Given the description of an element on the screen output the (x, y) to click on. 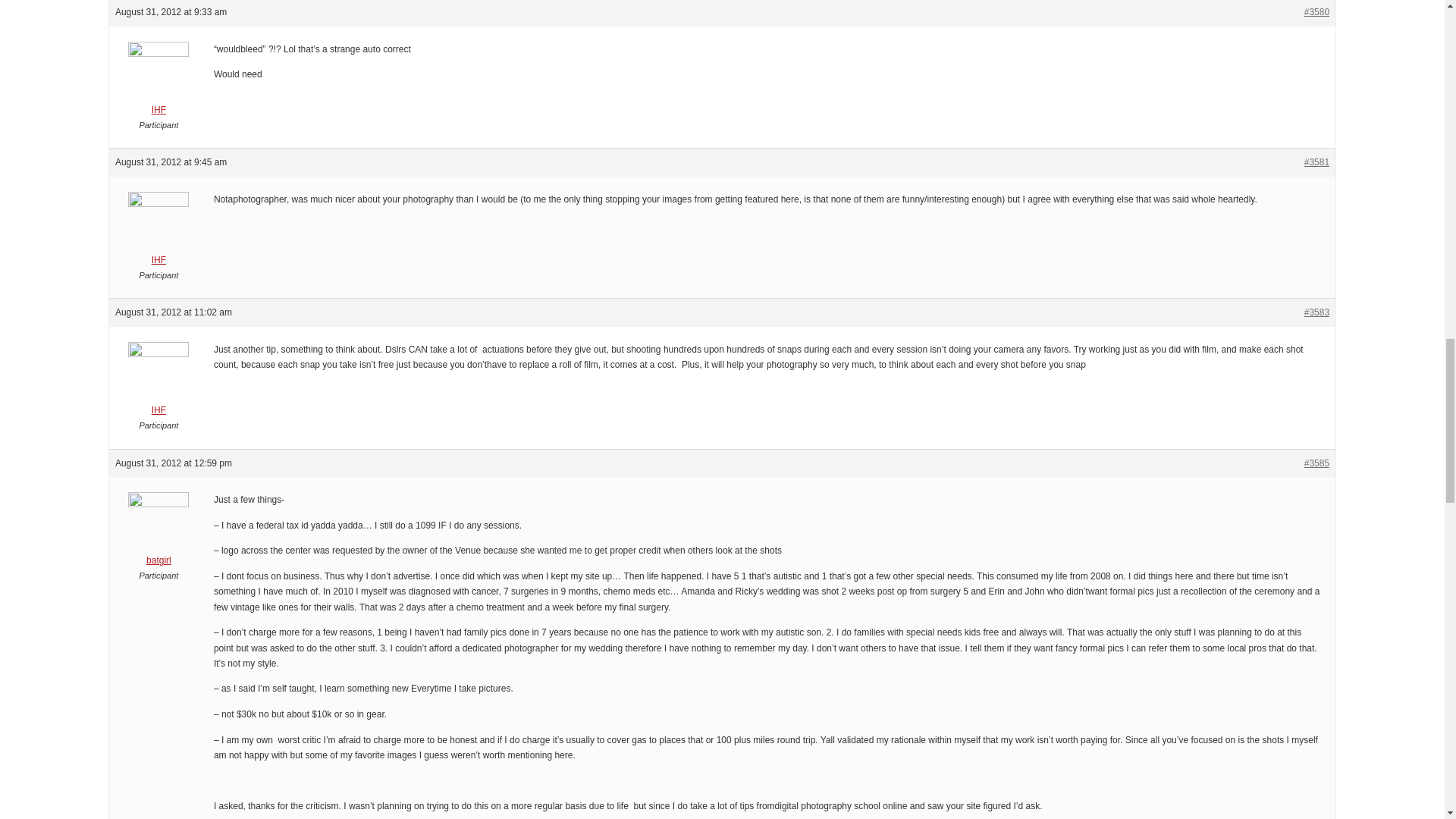
View batgirl's profile (158, 533)
View IHF's profile (158, 82)
batgirl (158, 533)
IHF (158, 233)
View IHF's profile (158, 382)
View IHF's profile (158, 233)
IHF (158, 382)
IHF (158, 82)
